Given the description of an element on the screen output the (x, y) to click on. 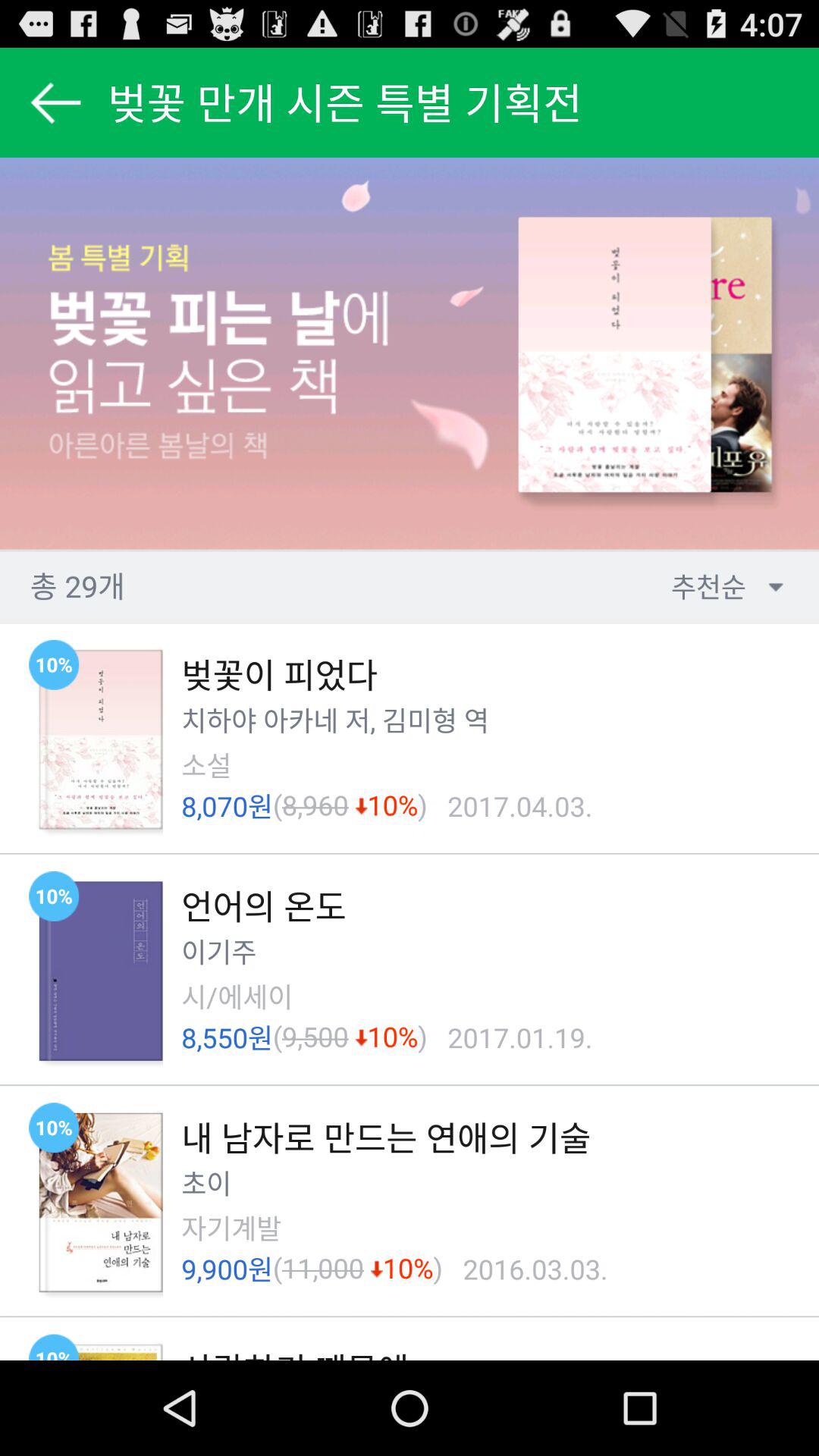
choose the icon to the left of the ( item (206, 764)
